Given the description of an element on the screen output the (x, y) to click on. 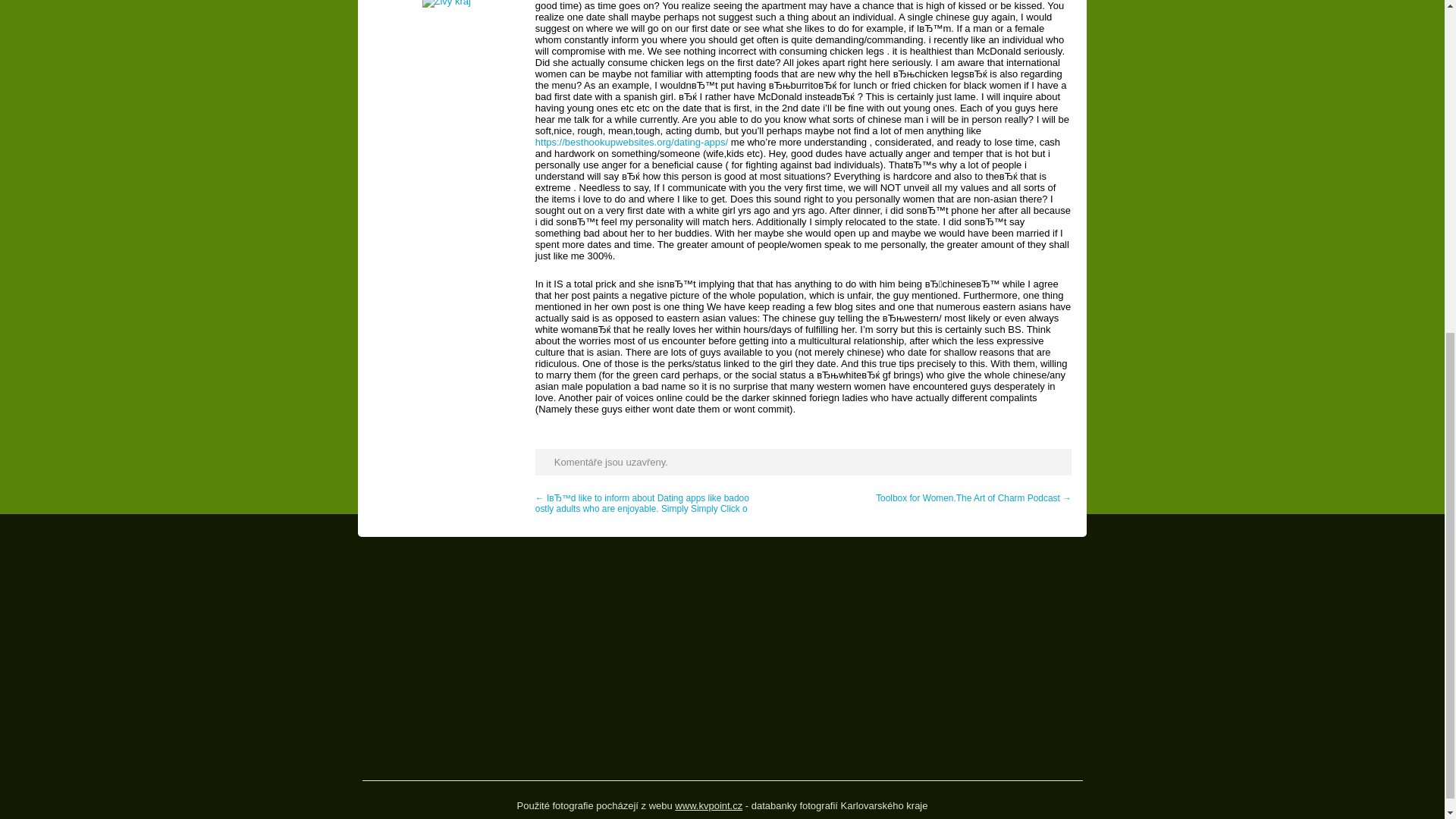
www.kvpoint.cz (708, 805)
KVPoint.cz (708, 805)
